Given the description of an element on the screen output the (x, y) to click on. 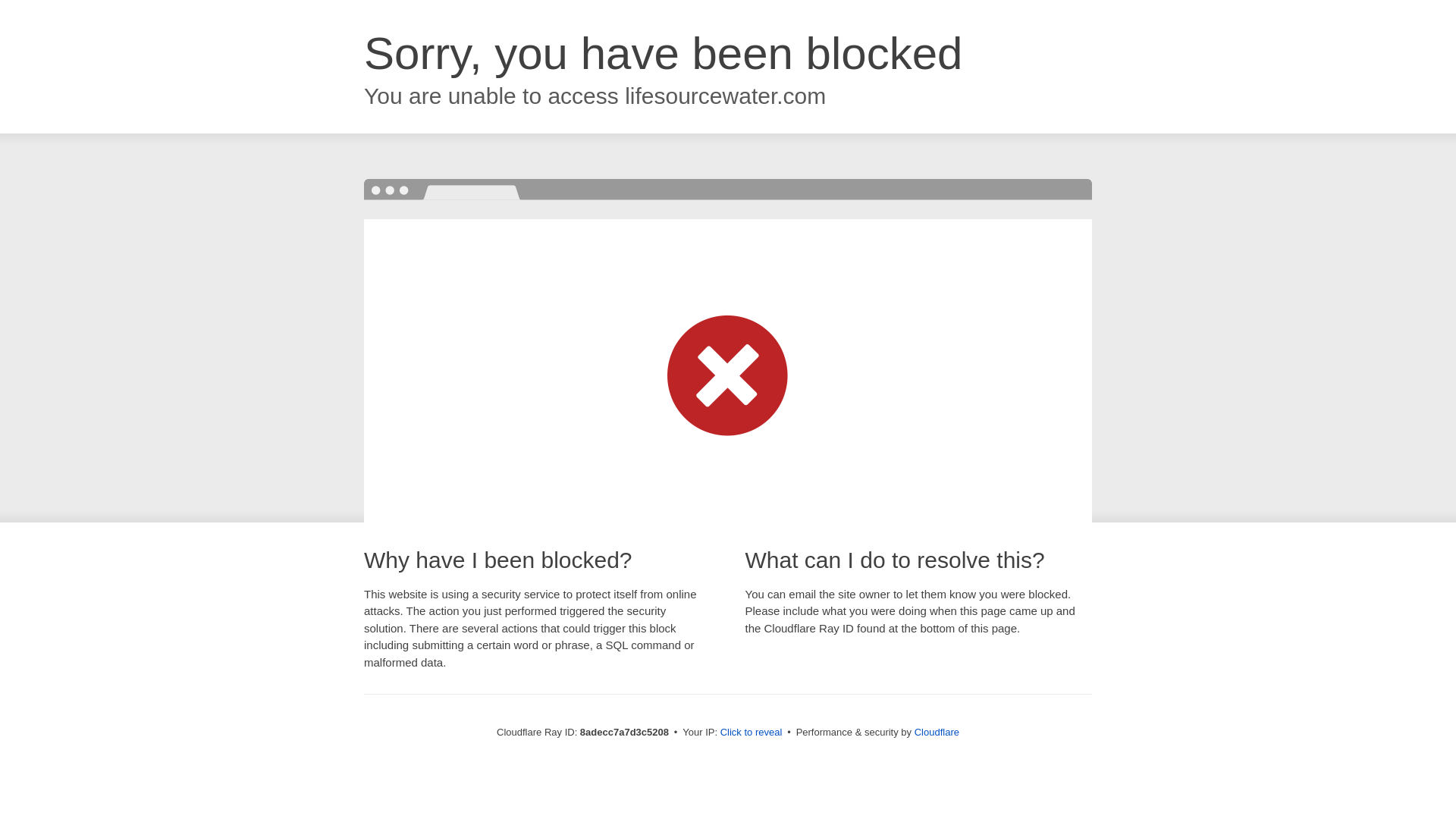
Cloudflare (936, 731)
Click to reveal (751, 732)
